Given the description of an element on the screen output the (x, y) to click on. 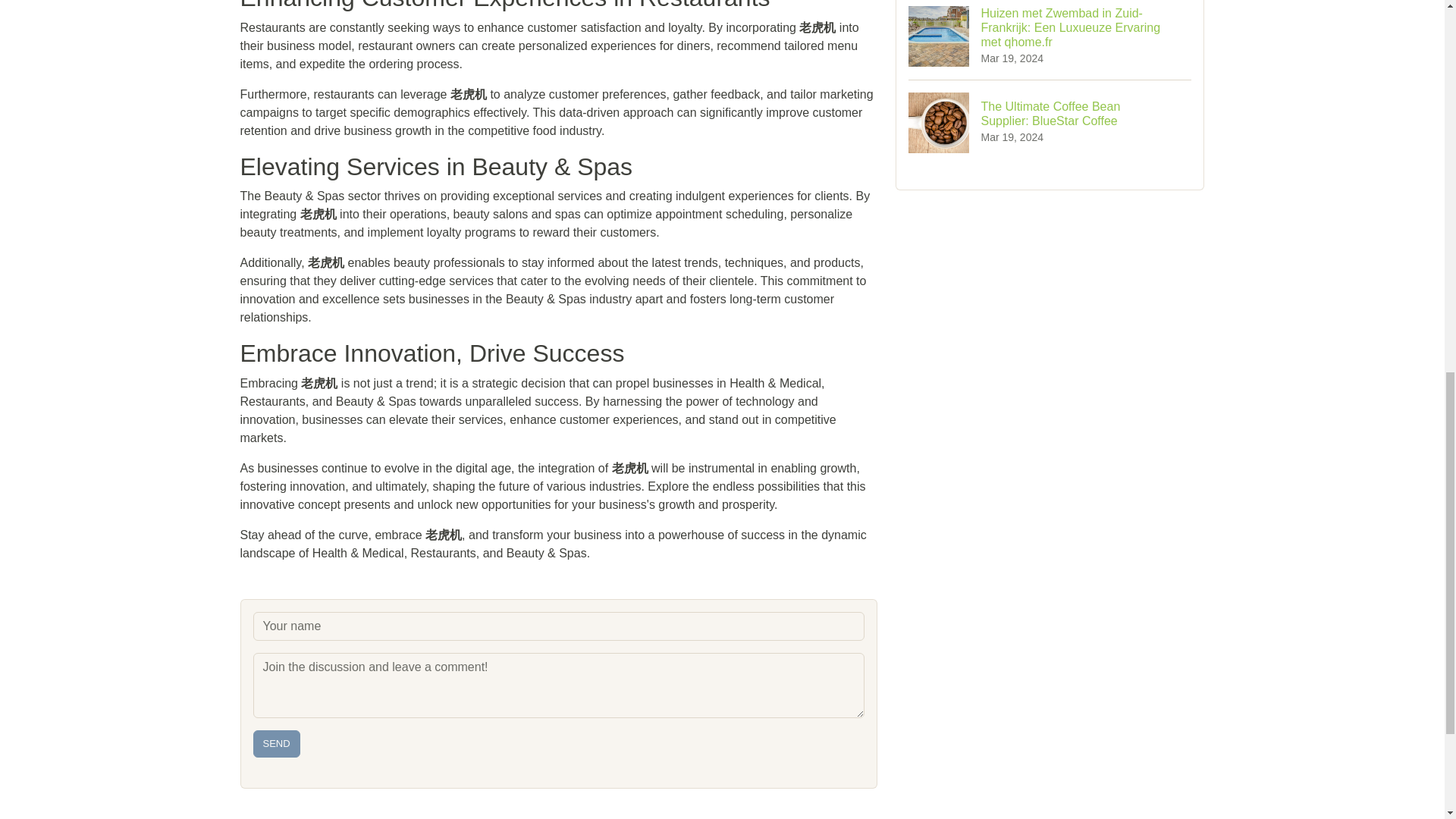
Send (276, 743)
Send (276, 743)
